Given the description of an element on the screen output the (x, y) to click on. 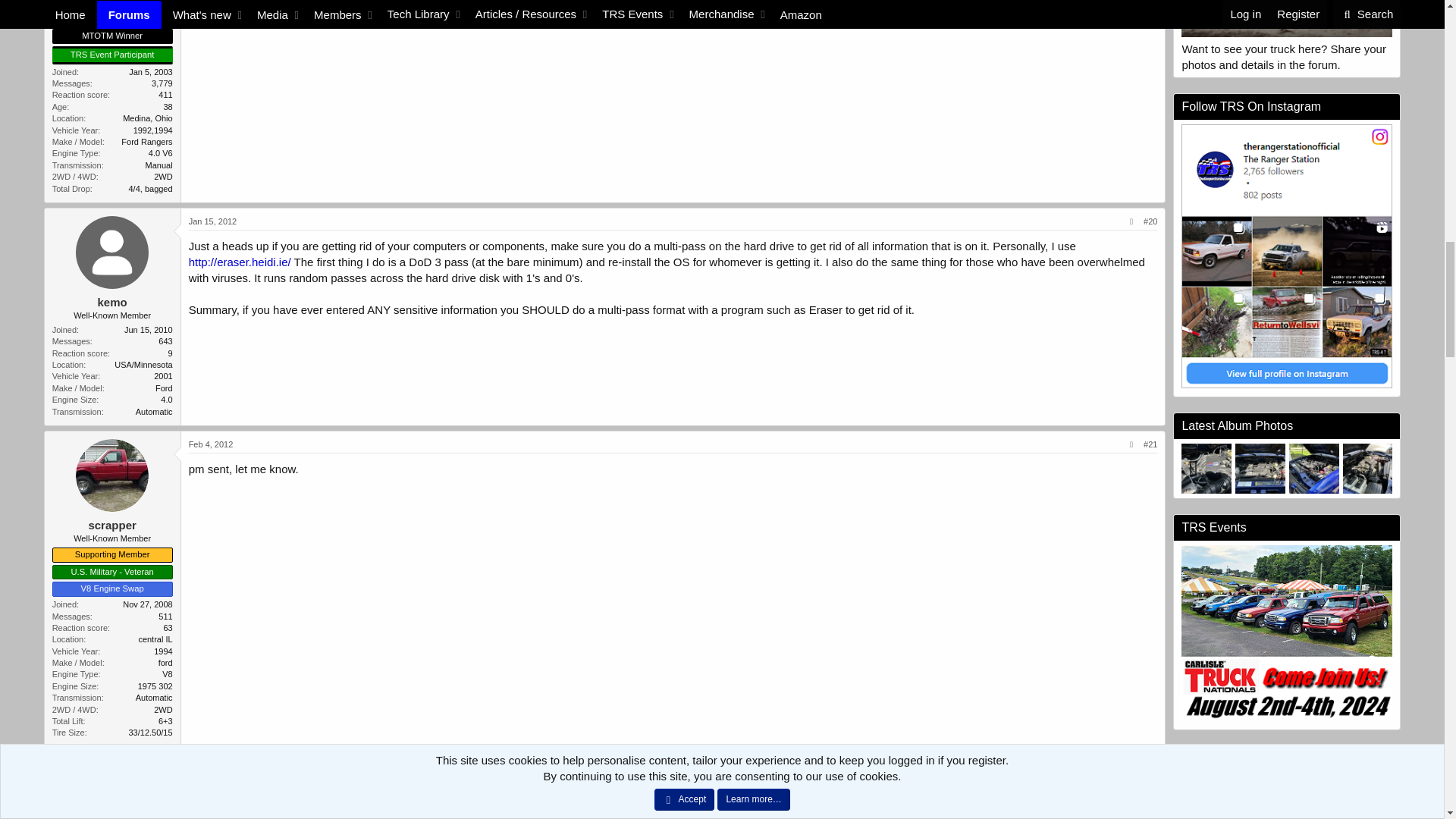
Feb 4, 2012 at 6:22 PM (210, 443)
Sep 13, 2012 at 11:31 AM (213, 765)
Jan 15, 2012 at 10:23 AM (213, 221)
